Given the description of an element on the screen output the (x, y) to click on. 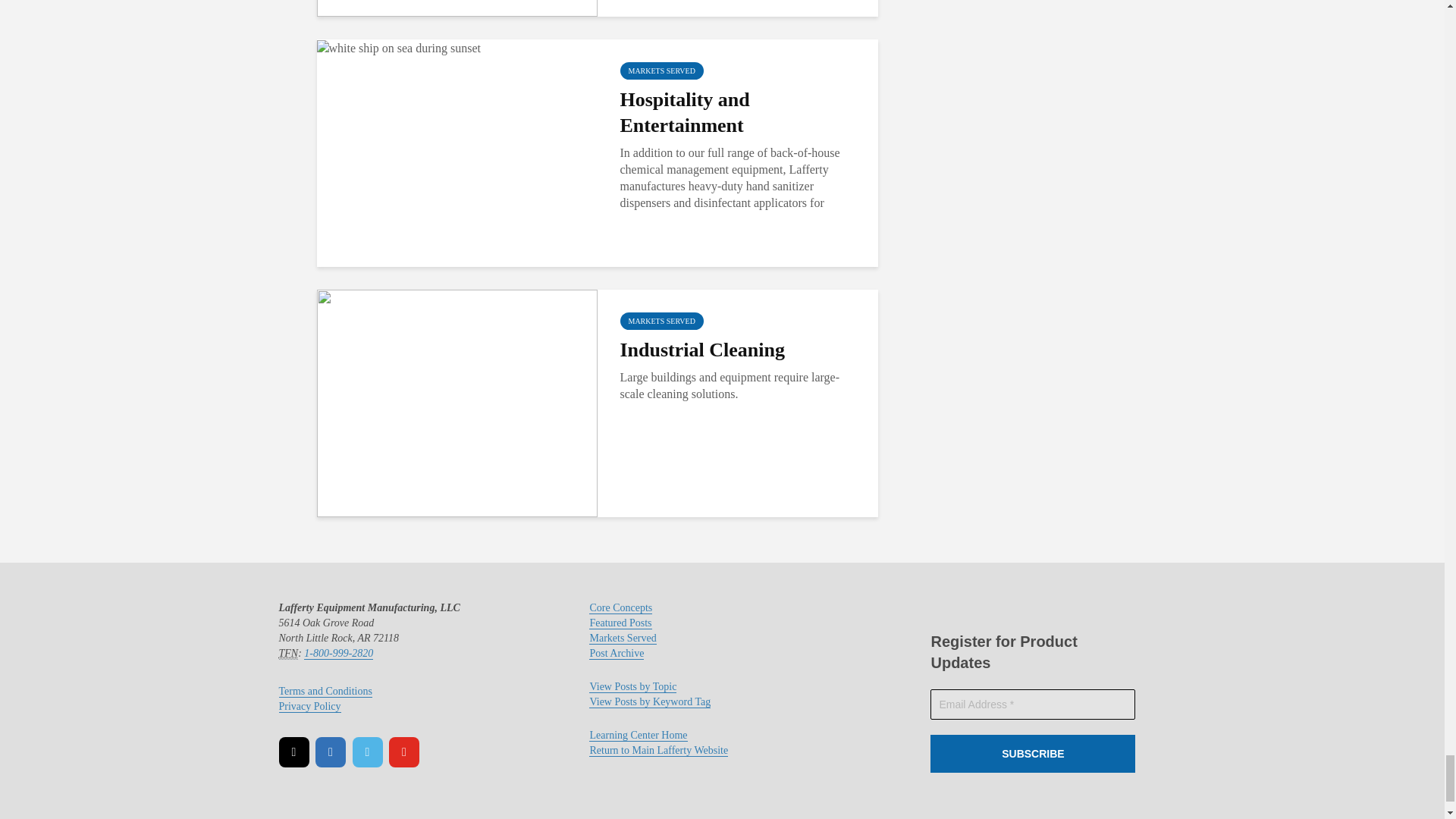
Privacy Policy  (309, 706)
Hospitality and Entertainment (398, 47)
Mail (293, 752)
Industrial Cleaning (456, 401)
Toll free number (288, 653)
